Given the description of an element on the screen output the (x, y) to click on. 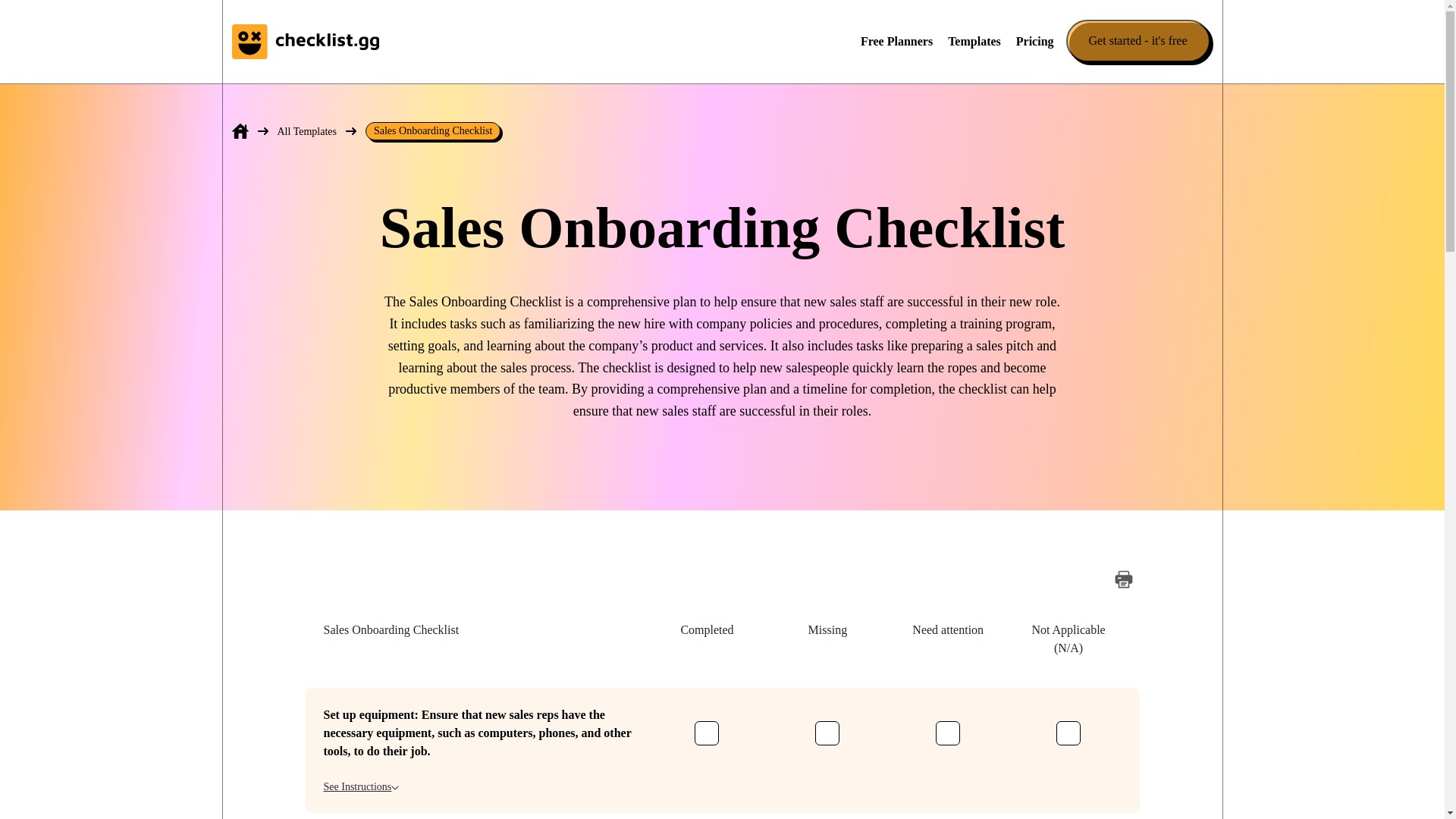
All Templates (307, 130)
Get started - it's free (1137, 40)
Pricing (1035, 41)
Sales Onboarding Checklist (432, 131)
Free Planners (896, 41)
Templates (974, 41)
See Instructions (360, 786)
Get started - it's free (1140, 41)
